Given the description of an element on the screen output the (x, y) to click on. 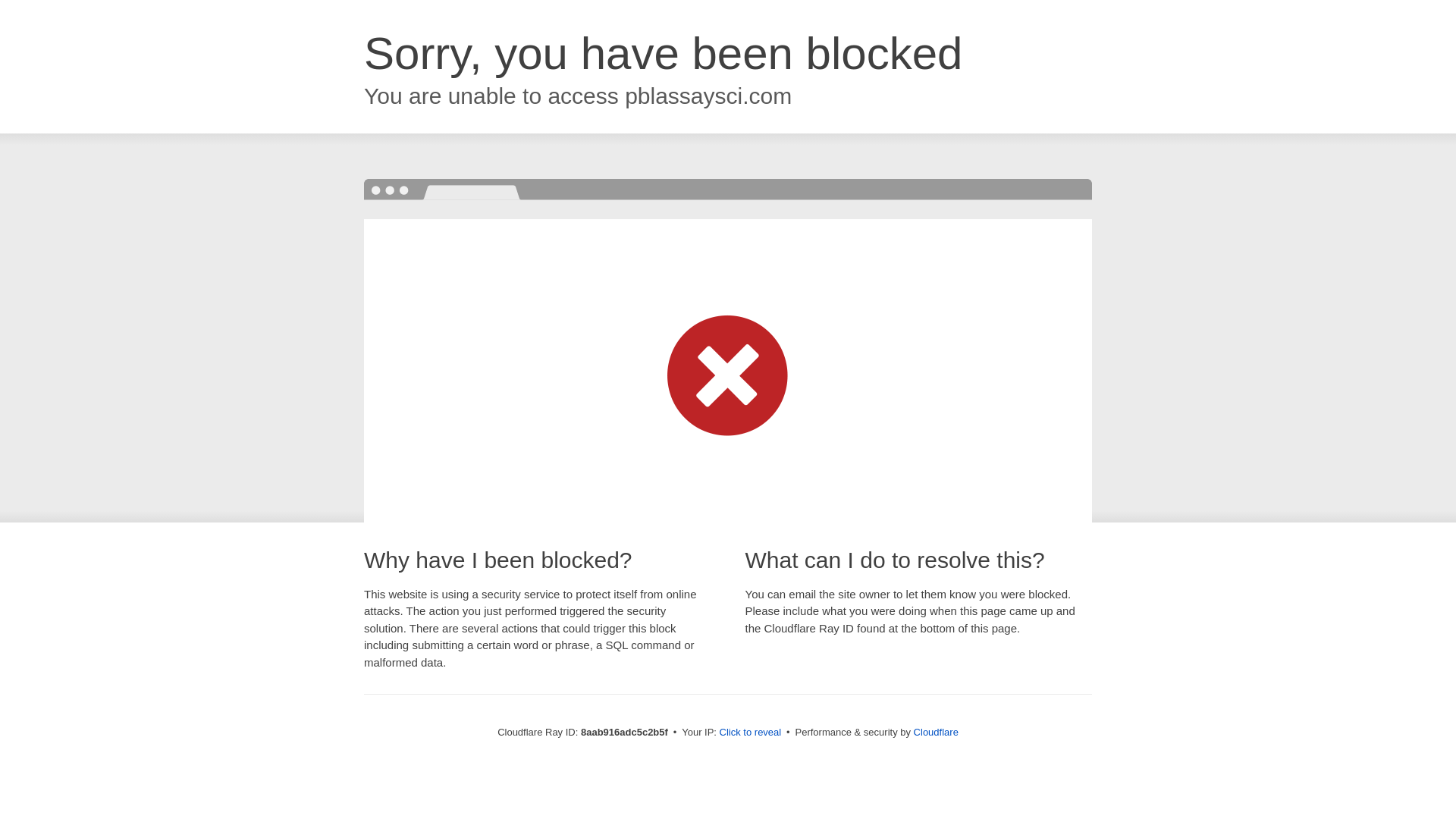
Cloudflare (936, 731)
Click to reveal (750, 732)
